Given the description of an element on the screen output the (x, y) to click on. 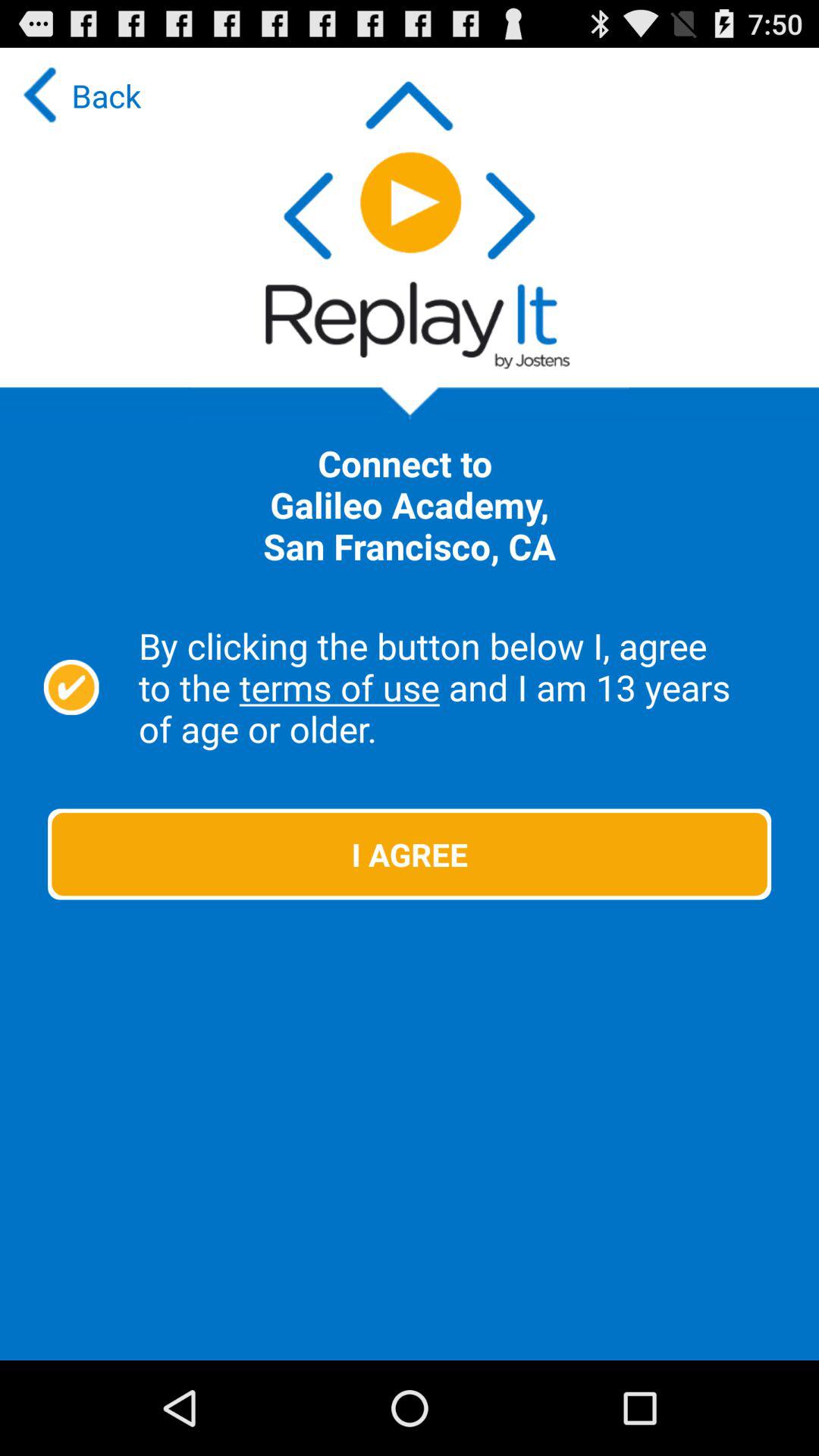
tap the back icon (78, 95)
